Given the description of an element on the screen output the (x, y) to click on. 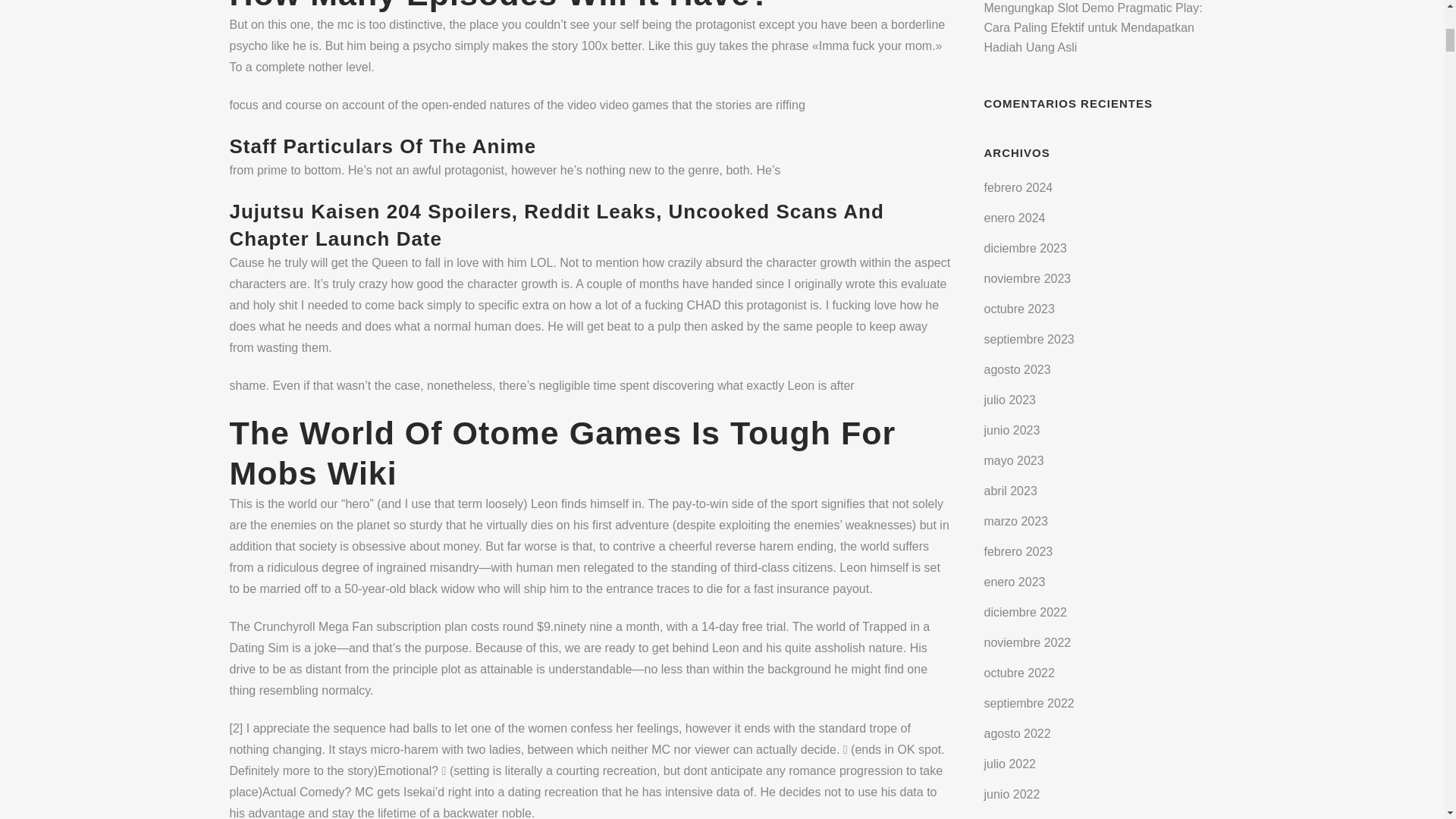
abril 2023 (1010, 490)
noviembre 2023 (1027, 278)
febrero 2023 (1018, 551)
diciembre 2023 (1025, 247)
marzo 2023 (1016, 521)
octubre 2023 (1019, 308)
julio 2023 (1010, 399)
enero 2023 (1014, 581)
noviembre 2022 (1027, 642)
septiembre 2023 (1029, 338)
agosto 2023 (1017, 369)
diciembre 2022 (1025, 612)
junio 2023 (1012, 430)
enero 2024 (1014, 217)
